Given the description of an element on the screen output the (x, y) to click on. 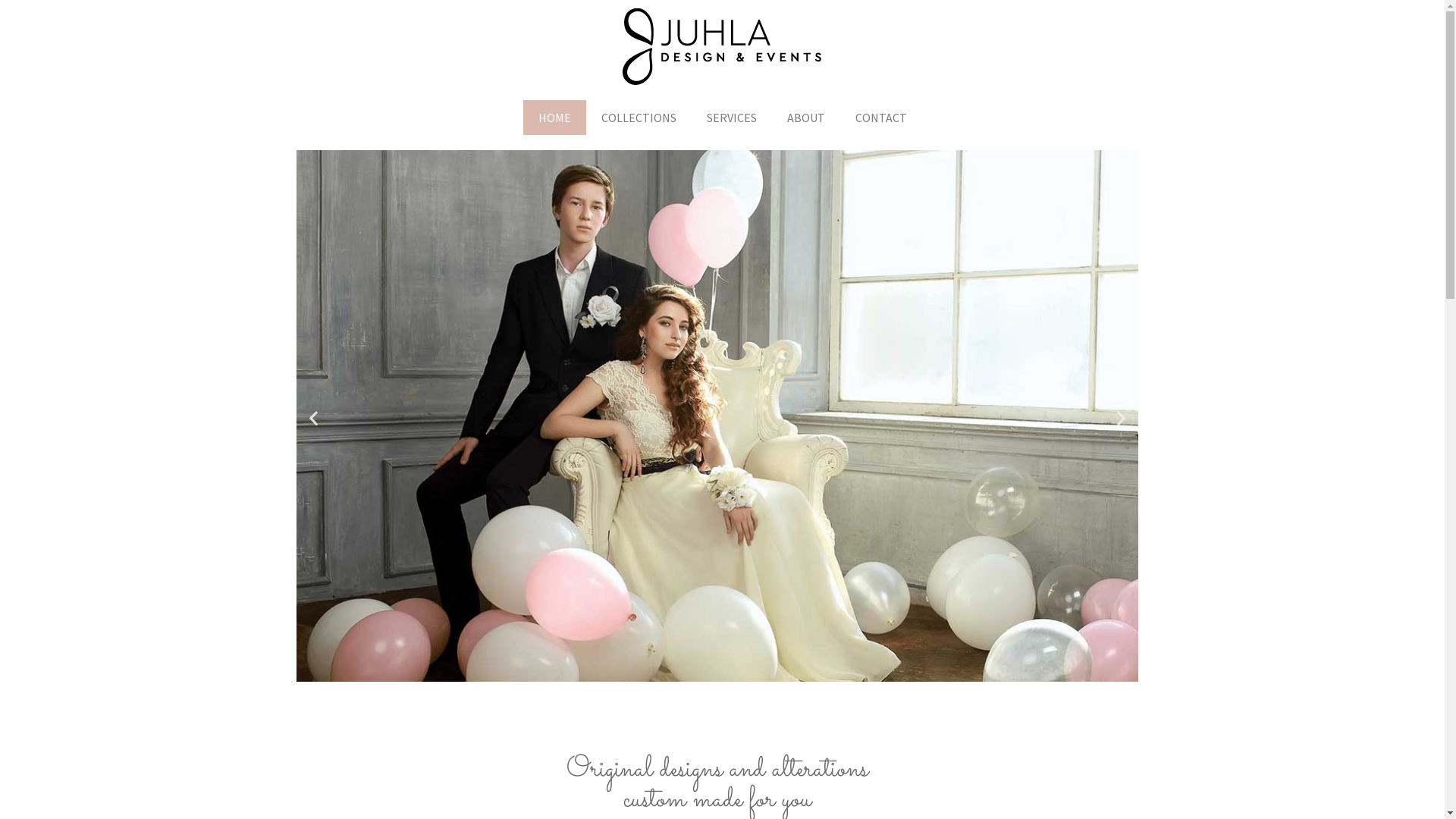
ABOUT Element type: text (805, 117)
COLLECTIONS Element type: text (637, 117)
CONTACT Element type: text (881, 117)
HOME Element type: text (554, 117)
SERVICES Element type: text (731, 117)
